Given the description of an element on the screen output the (x, y) to click on. 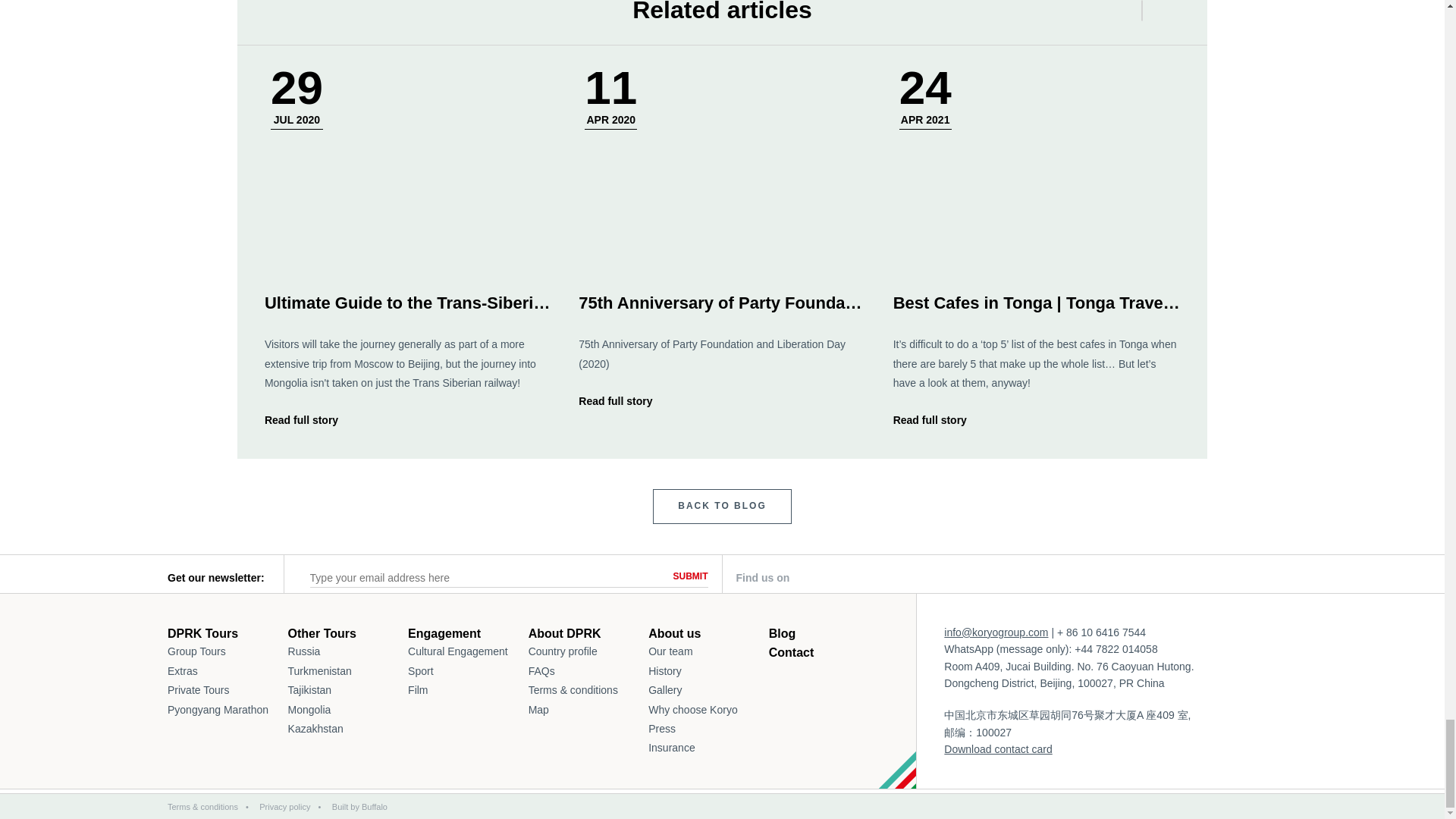
Twitter (928, 577)
Flickr (1161, 576)
Instagram (1004, 578)
YouTube (1083, 577)
